Given the description of an element on the screen output the (x, y) to click on. 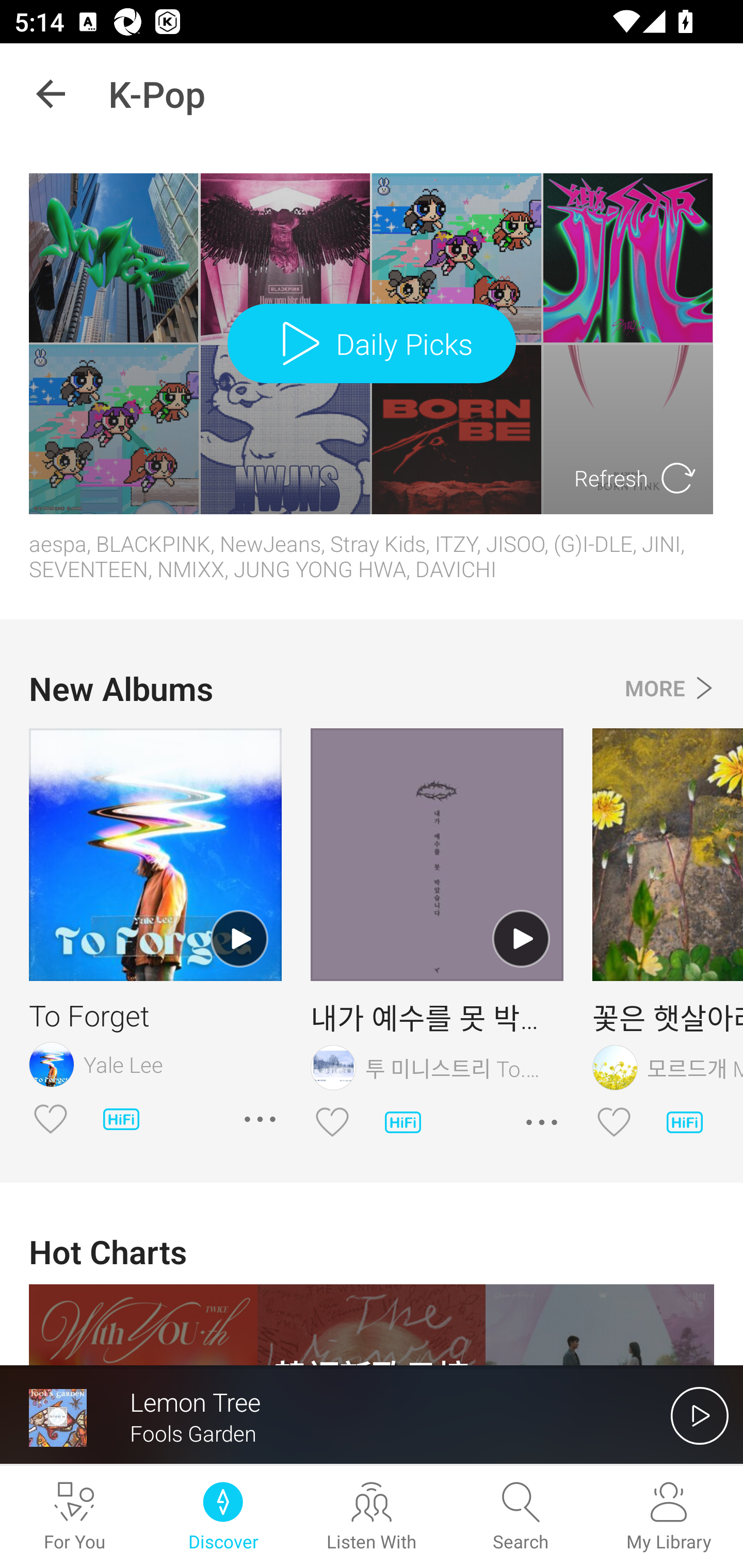
Daily Picks (371, 343)
Refresh (636, 478)
New Albums MORE (371, 688)
播放歌單 (239, 938)
播放歌單 (520, 938)
To Forget (154, 1014)
내가 예수를 못 박았습니다 This Is I Who Nailed Jesus (436, 1016)
꽃은 햇살아래 Flower Under the Sunshine (667, 1016)
Yale Lee (154, 1063)
투 미니스트리 To. Ministry (436, 1066)
모르드개 Mordecai (667, 1066)
Hot Charts (371, 1251)
韓語新歌日榜 (371, 1324)
開始播放 (699, 1415)
For You (74, 1517)
Discover (222, 1517)
Listen With (371, 1517)
Search (519, 1517)
My Library (668, 1517)
